Given the description of an element on the screen output the (x, y) to click on. 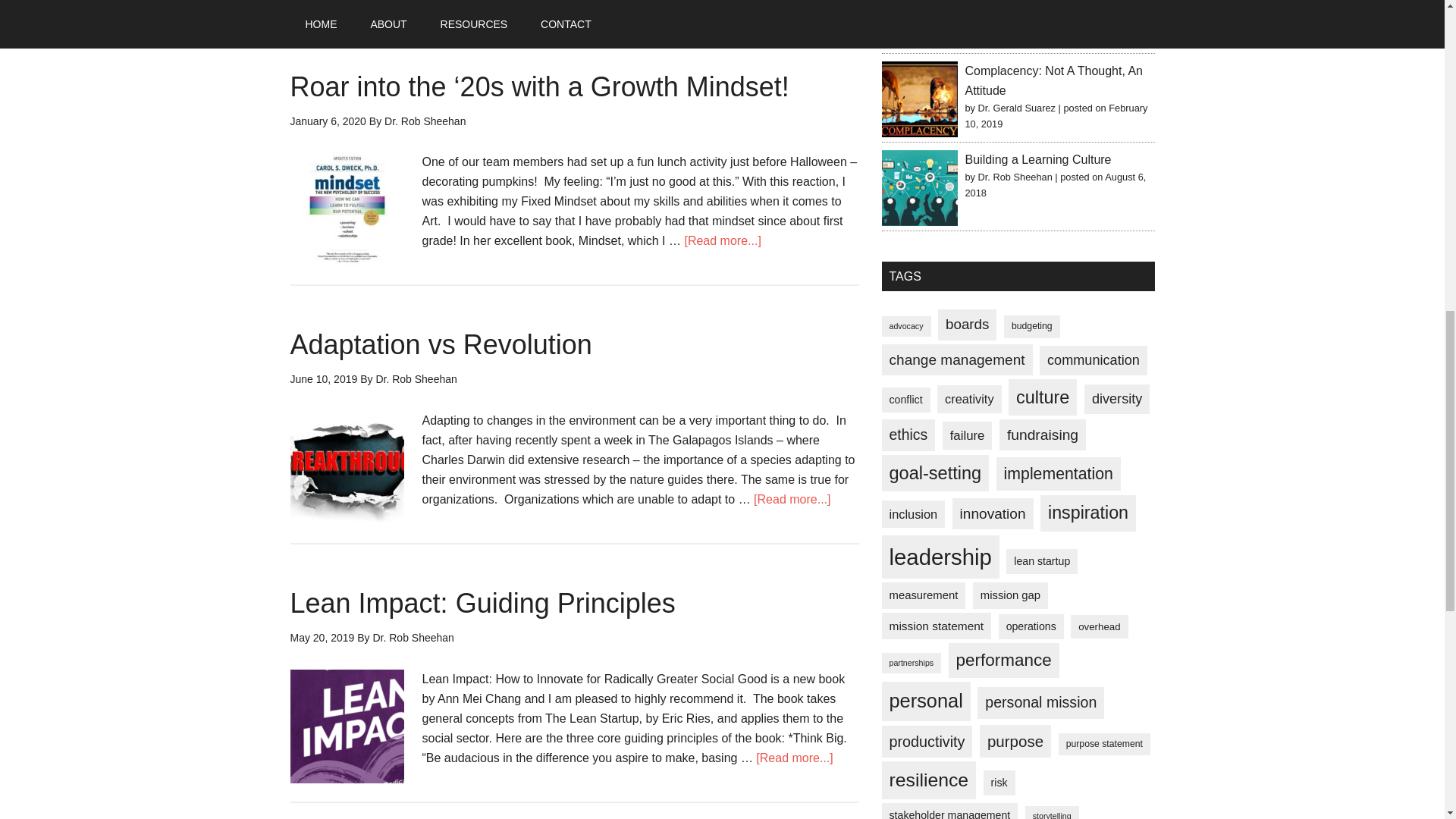
Dr. Rob Sheehan (424, 121)
Adaptation vs Revolution (440, 344)
